Given the description of an element on the screen output the (x, y) to click on. 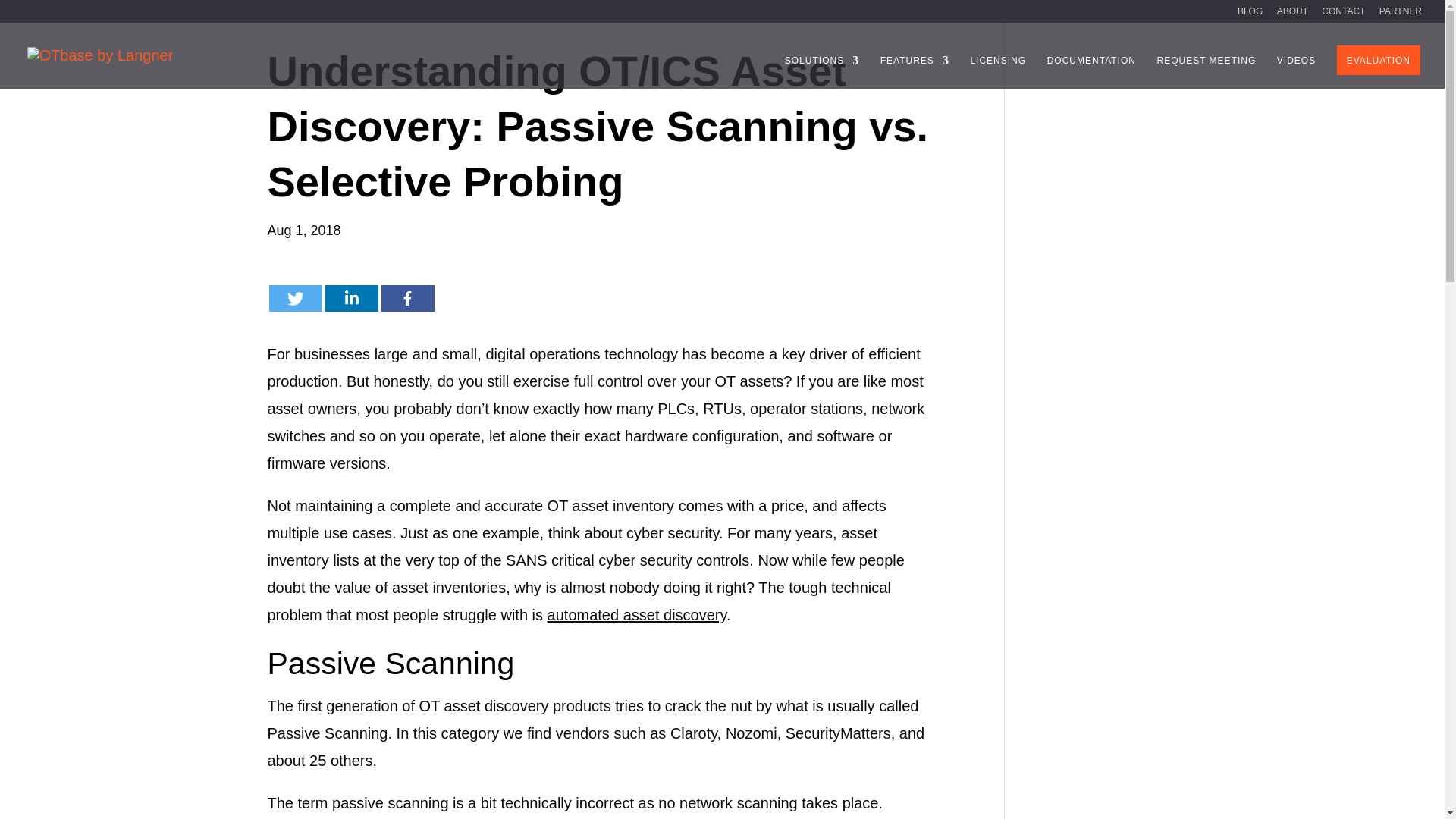
BLOG (1249, 14)
SOLUTIONS (821, 71)
Linkedin (350, 298)
FEATURES (914, 71)
Twitter (294, 298)
Facebook (406, 298)
VIDEOS (1296, 71)
EVALUATION (1378, 60)
PARTNER (1400, 14)
REQUEST MEETING (1205, 71)
DOCUMENTATION (1090, 71)
LICENSING (997, 71)
ABOUT (1291, 14)
CONTACT (1343, 14)
